Given the description of an element on the screen output the (x, y) to click on. 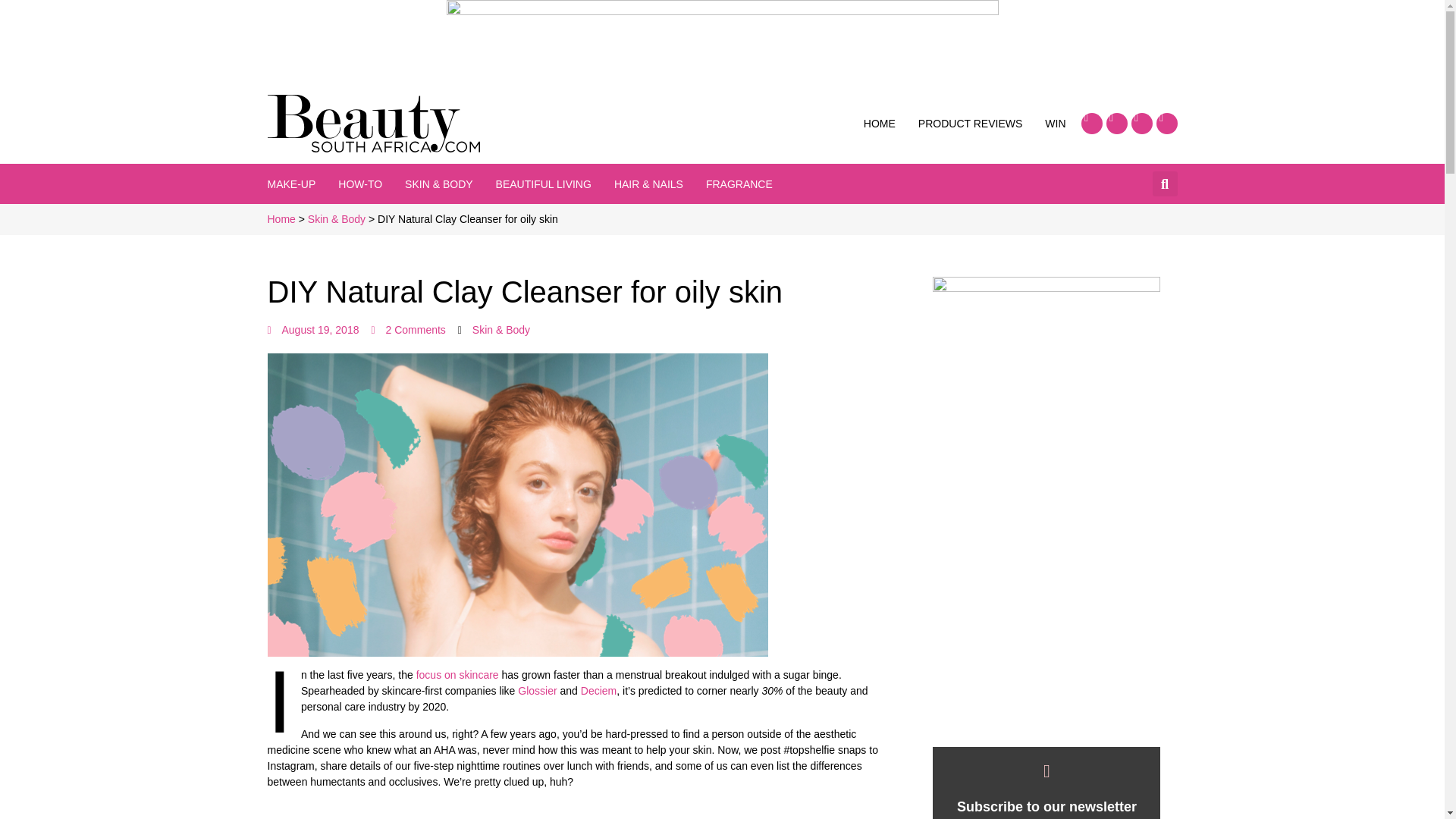
BEAUTIFUL LIVING (543, 183)
focus on skincare (459, 674)
Home (280, 218)
FRAGRANCE (739, 183)
HOME (879, 123)
MAKE-UP (290, 183)
Deciem (597, 690)
PRODUCT REVIEWS (970, 123)
WIN (1055, 123)
2 Comments (408, 330)
August 19, 2018 (312, 330)
HOW-TO (359, 183)
Glossier (537, 690)
